Given the description of an element on the screen output the (x, y) to click on. 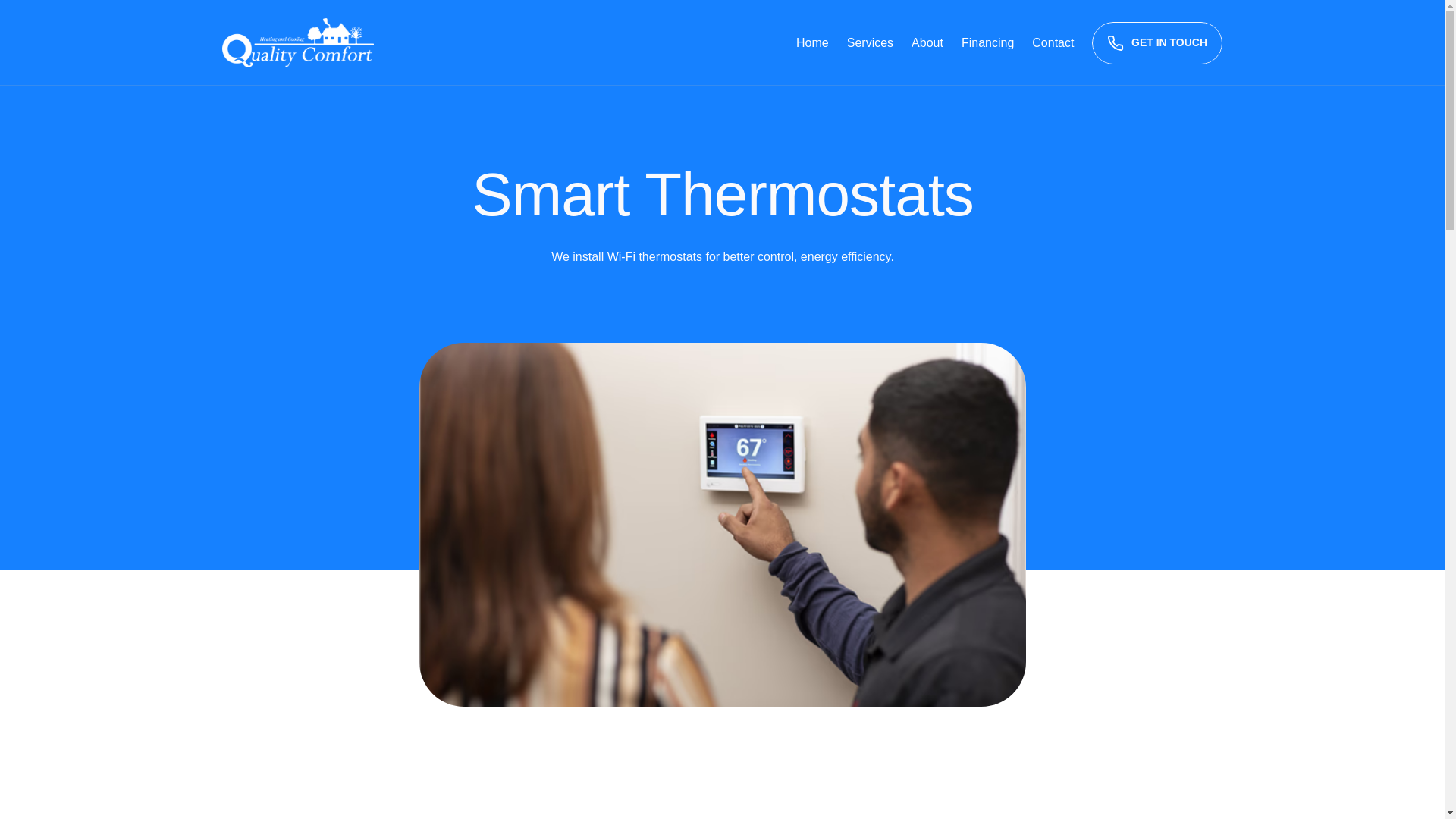
Services (870, 42)
GET IN TOUCH (1157, 43)
Financing (986, 42)
Home (812, 42)
About (927, 42)
Contact (1053, 42)
